Given the description of an element on the screen output the (x, y) to click on. 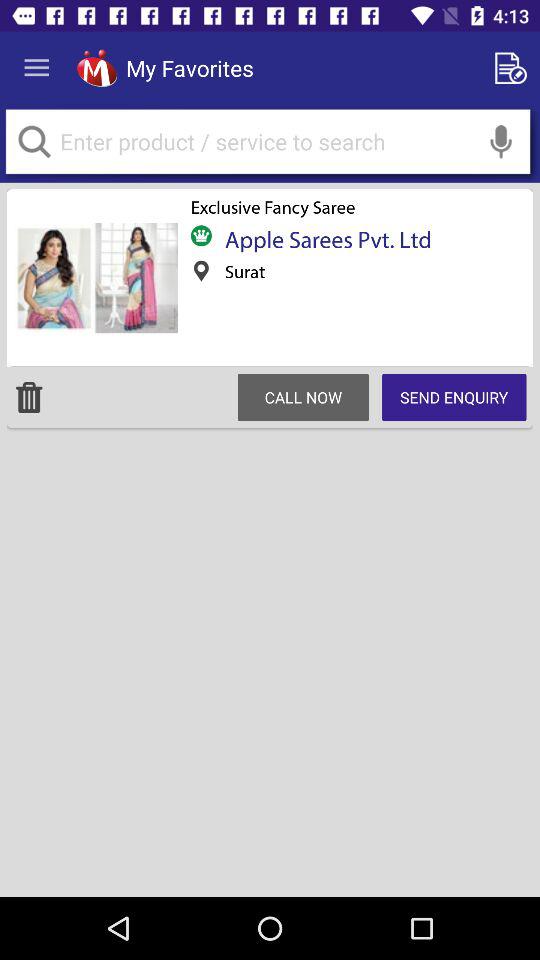
create new document (514, 68)
